Given the description of an element on the screen output the (x, y) to click on. 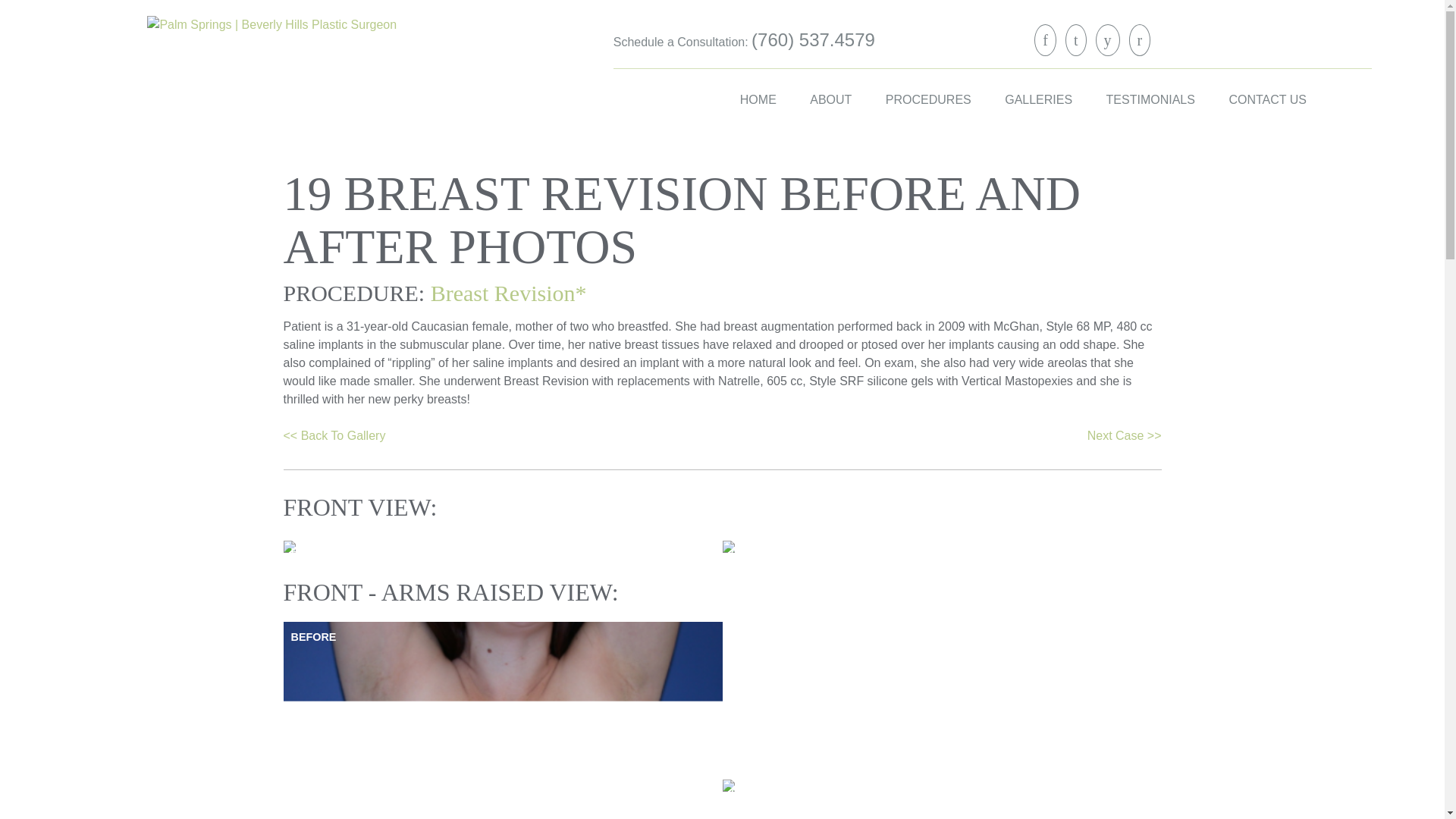
PROCEDURES (928, 99)
HOME (757, 99)
ABOUT (830, 99)
